Given the description of an element on the screen output the (x, y) to click on. 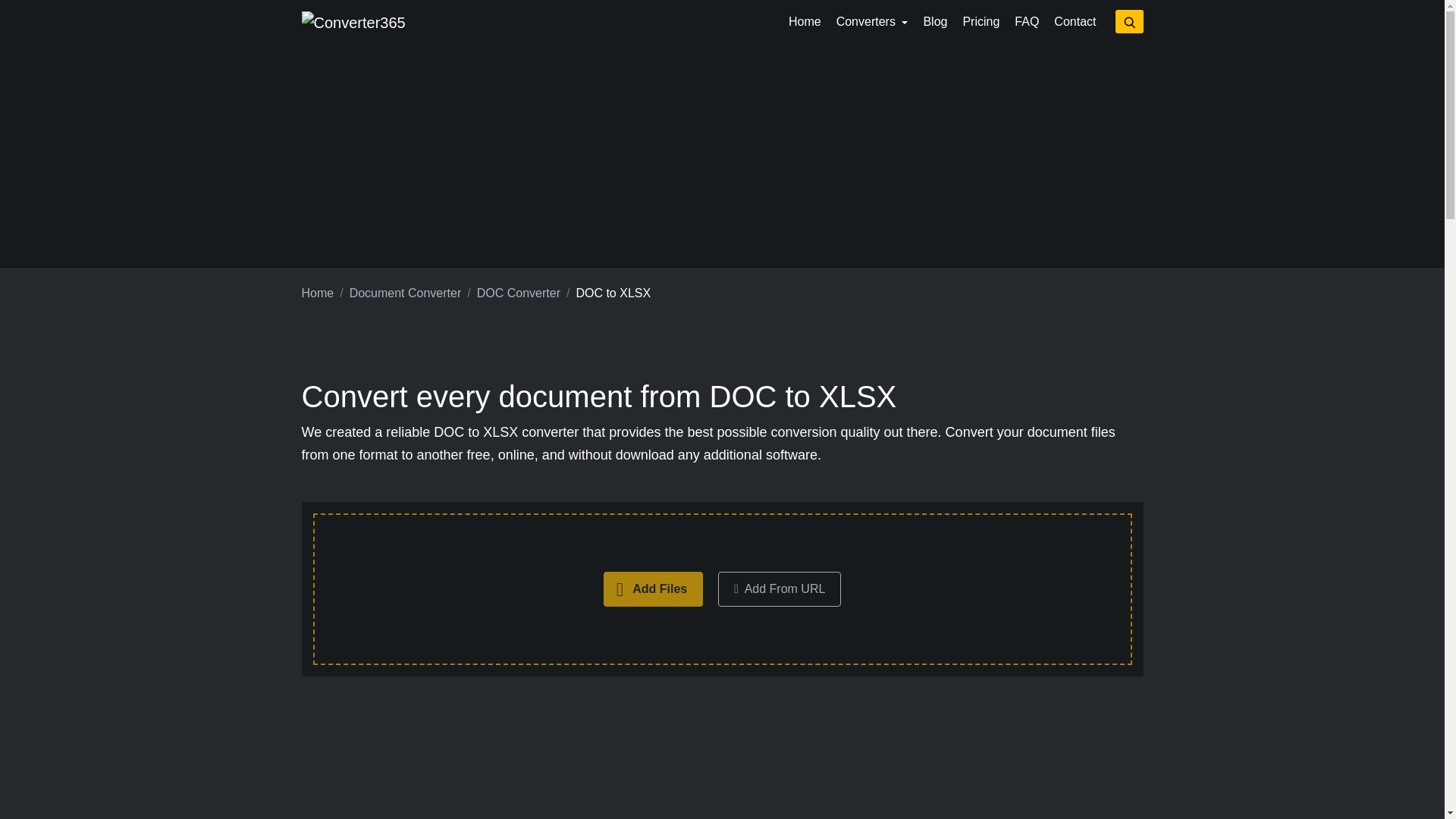
Search for supported converters (1128, 21)
FAQ (1026, 21)
Drop files here (721, 589)
Converters (871, 21)
Add file from url (779, 588)
DOC Converter (518, 293)
Pricing (981, 21)
Home (317, 293)
Contact (1074, 21)
Document Converter (405, 293)
Blog (935, 21)
Add files from computer (653, 588)
Add Files (653, 588)
Converter365 (353, 22)
Home (804, 21)
